Given the description of an element on the screen output the (x, y) to click on. 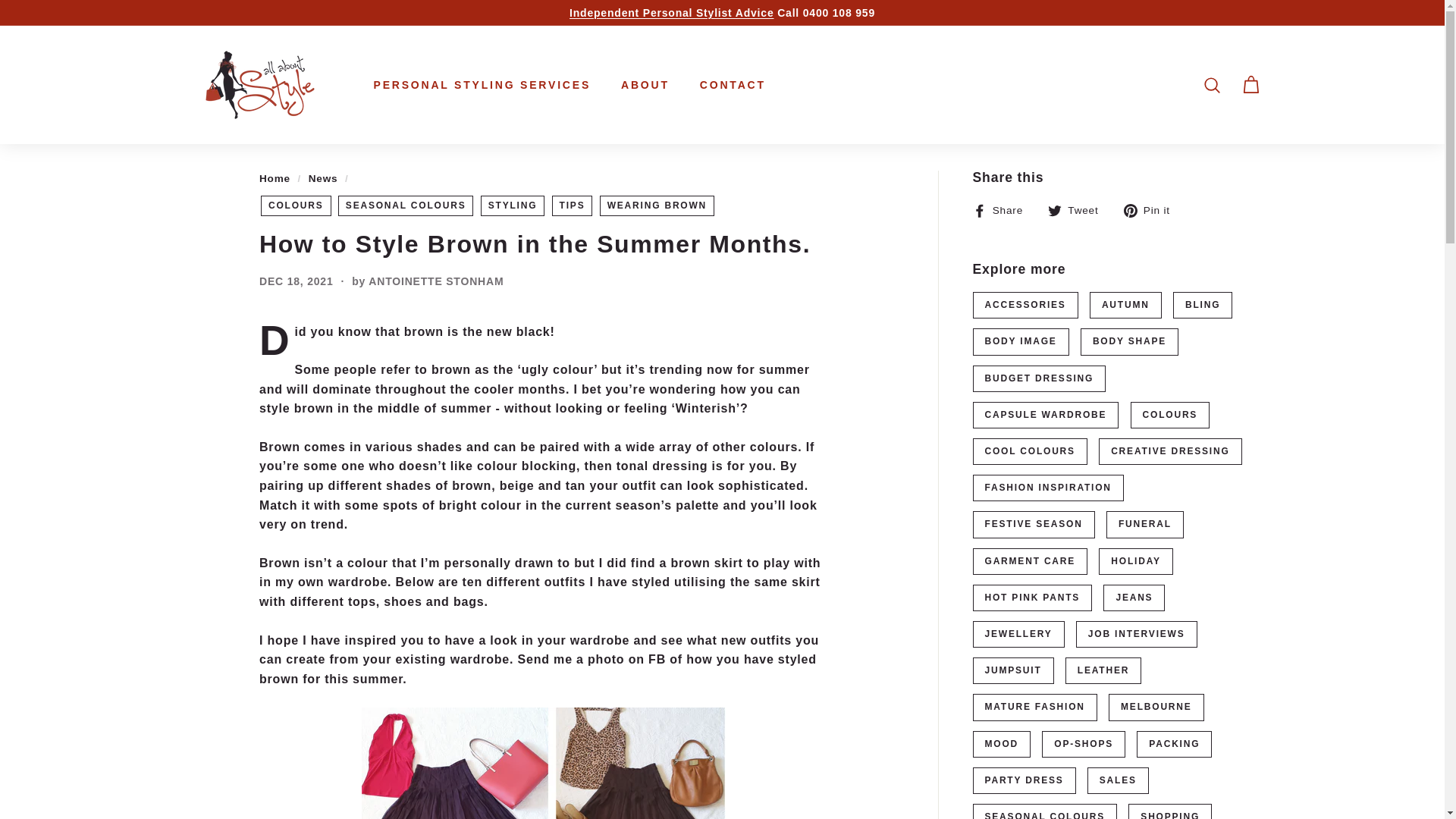
Independent Personal Stylist Advice (671, 12)
ABOUT (644, 84)
CONTACT (732, 84)
Styling Services (671, 12)
Share on Facebook (1002, 209)
PERSONAL STYLING SERVICES (481, 84)
Back to the frontpage (274, 178)
Pin on Pinterest (1152, 209)
Tweet on Twitter (1078, 209)
